Given the description of an element on the screen output the (x, y) to click on. 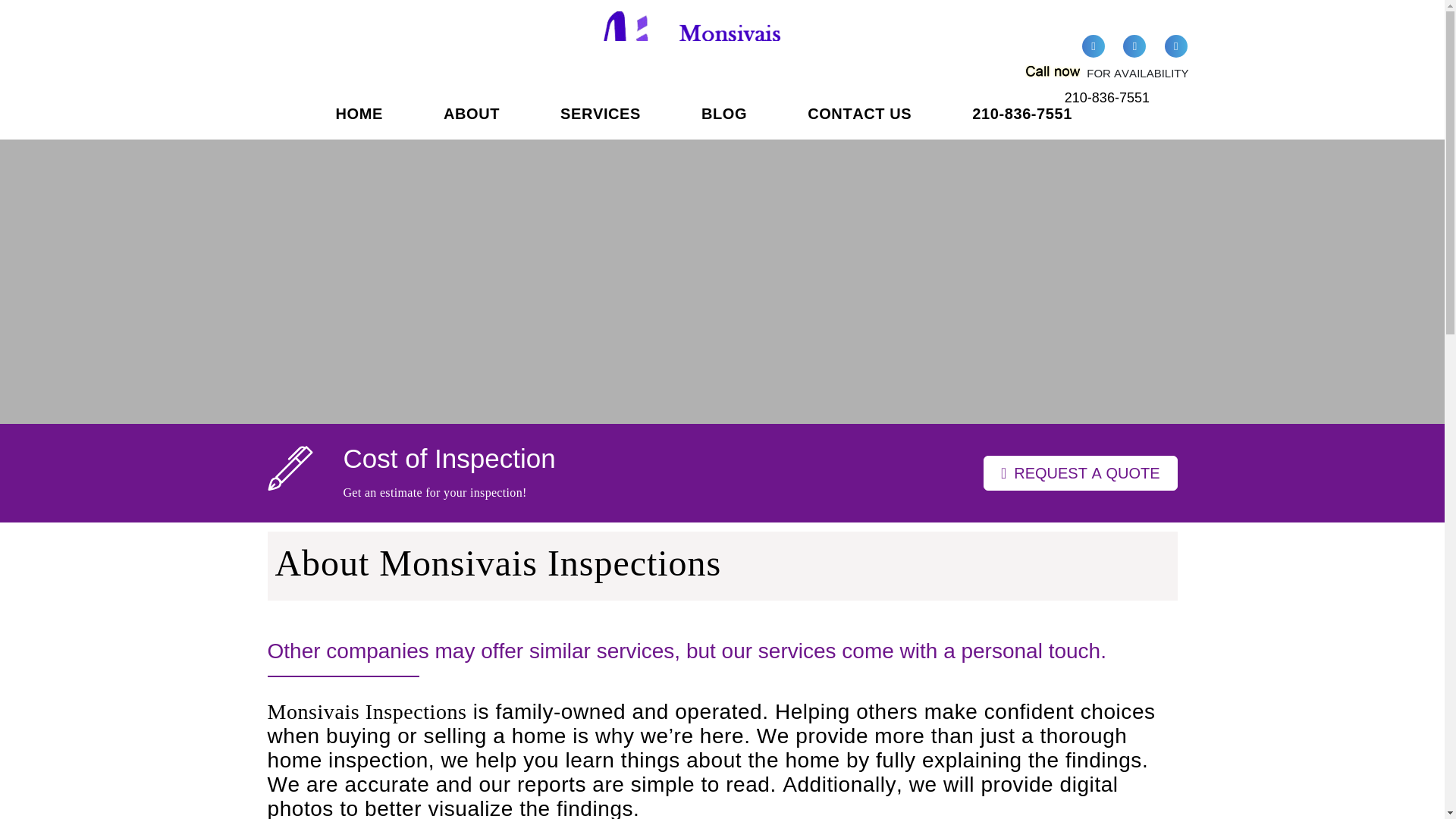
CONTACT US (859, 122)
SERVICES (600, 122)
HOME (357, 122)
ABOUT (471, 122)
210-836-7551 (1106, 97)
REQUEST A QUOTE (1080, 472)
BLOG (723, 122)
210-836-7551 (1021, 122)
